Given the description of an element on the screen output the (x, y) to click on. 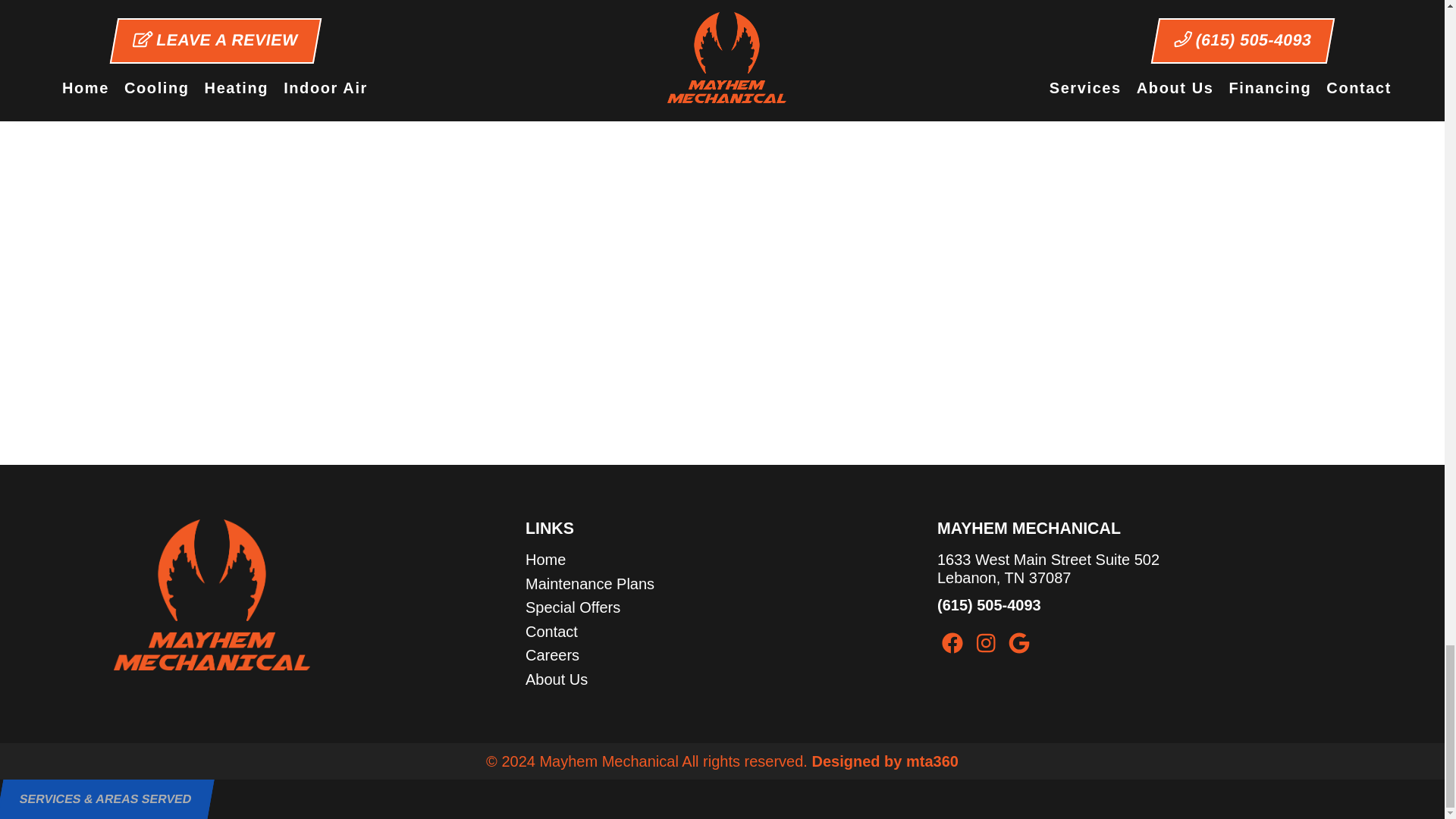
Website Designed by mta360 (884, 760)
